Given the description of an element on the screen output the (x, y) to click on. 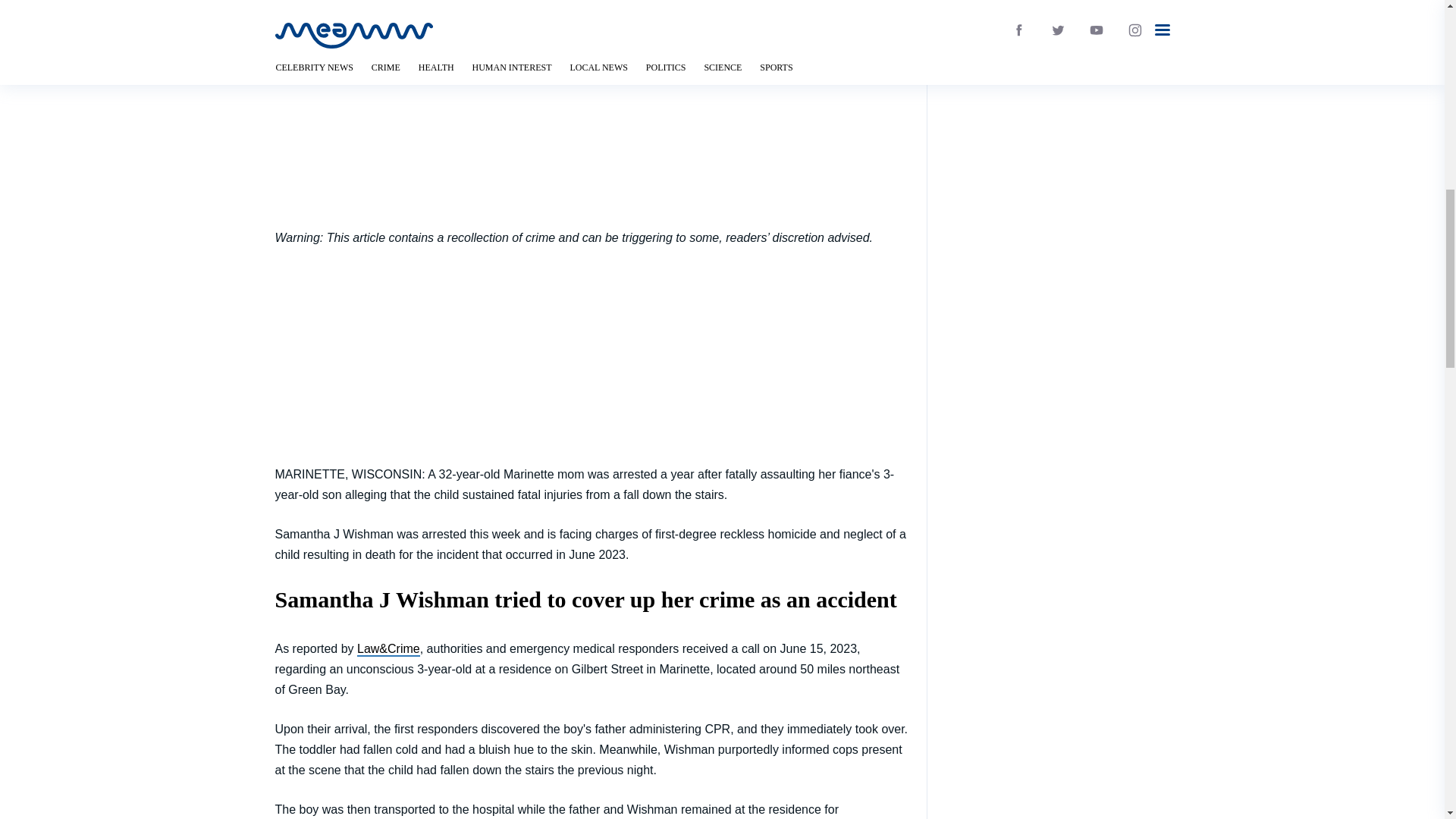
Copy Link (722, 169)
WhatsApp (722, 131)
Twitter (722, 55)
Facebook (722, 94)
